Given the description of an element on the screen output the (x, y) to click on. 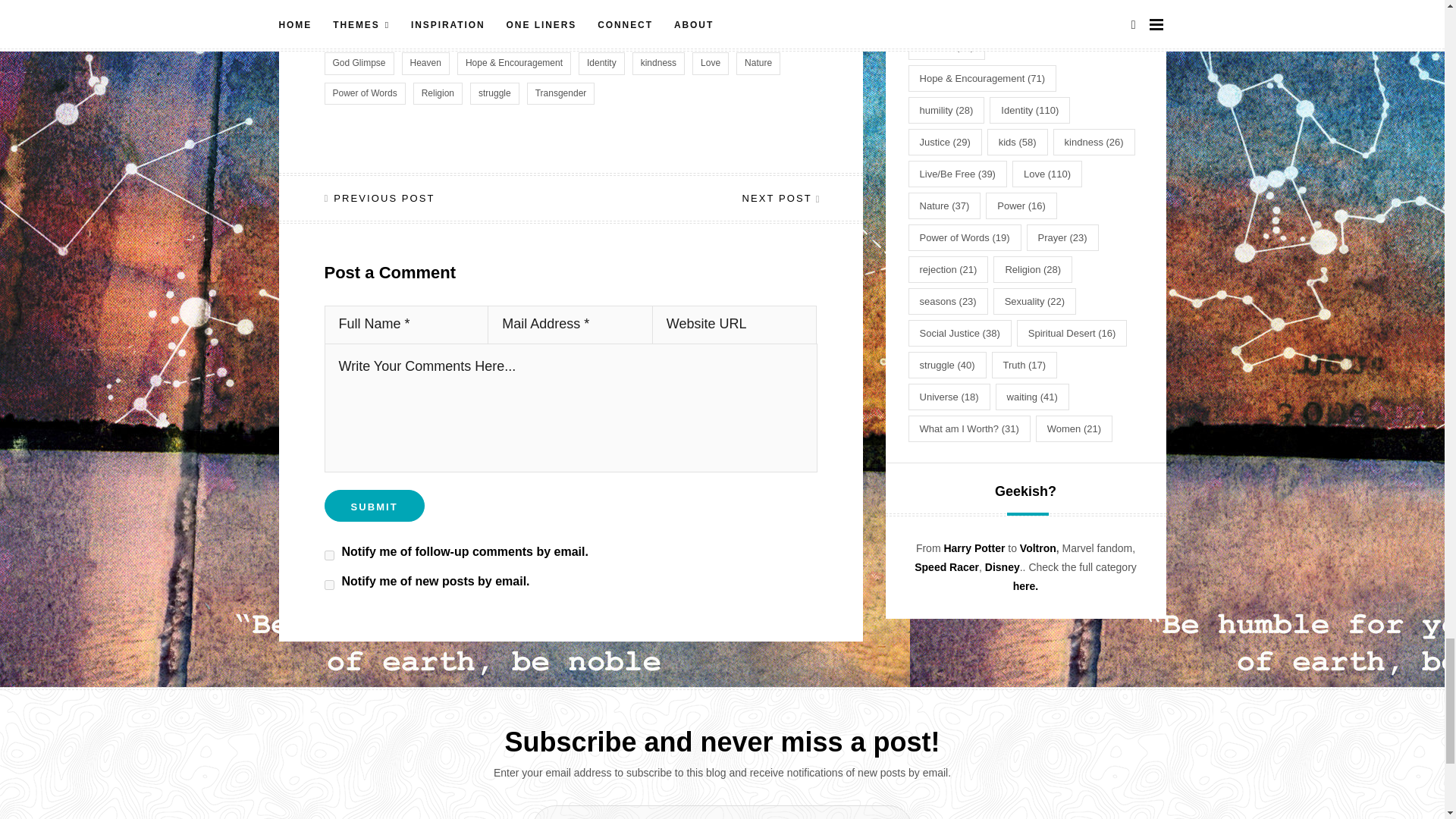
Abuse (459, 33)
Submit (374, 505)
Freedom (625, 33)
America (512, 33)
God Glimpse (359, 63)
Beauty (568, 33)
